Given the description of an element on the screen output the (x, y) to click on. 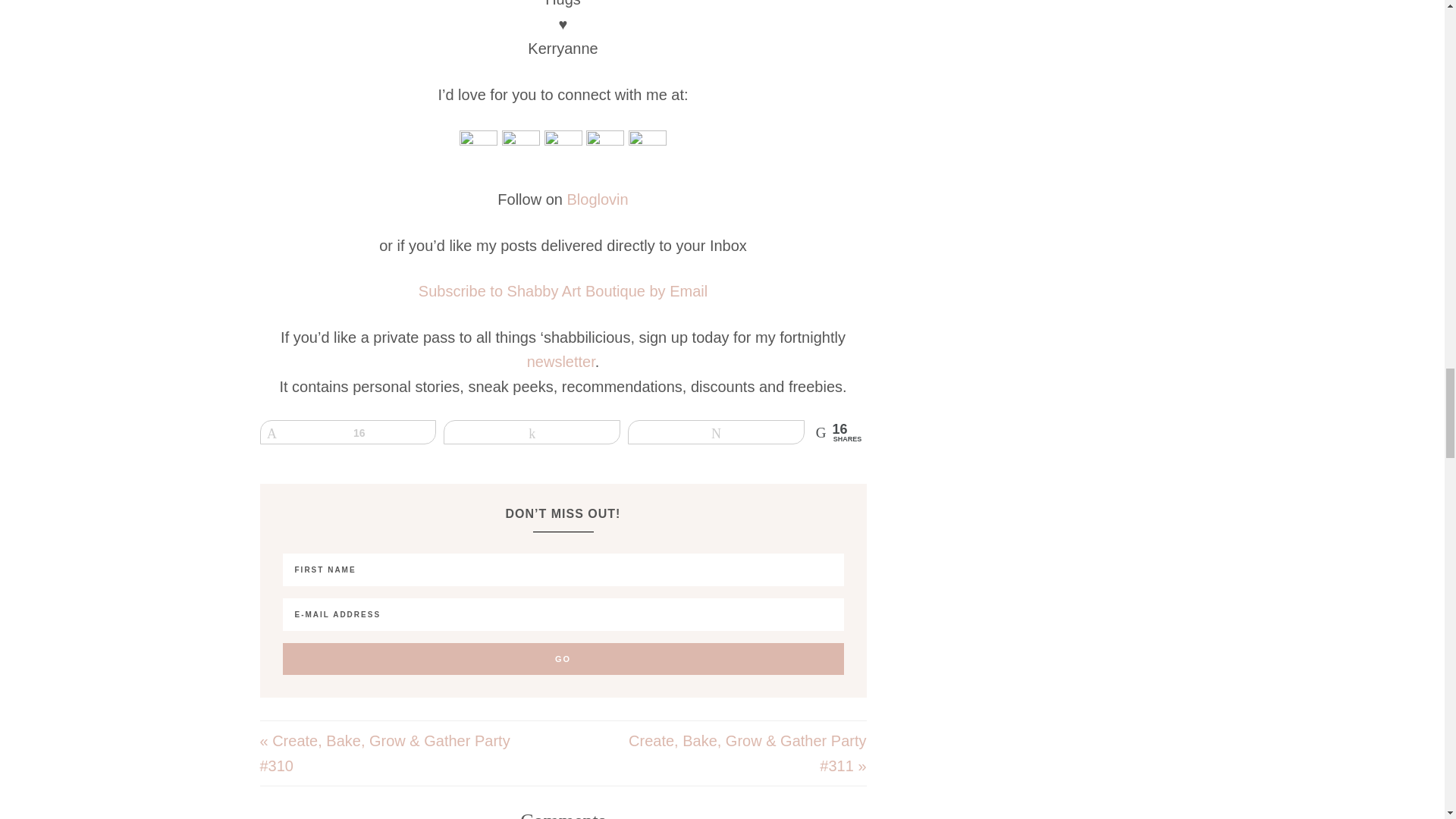
newsletter (561, 361)
Subscribe to Shabby Art Boutique by Email (563, 290)
Bloglovin (596, 199)
16 (347, 431)
Go (562, 658)
